Given the description of an element on the screen output the (x, y) to click on. 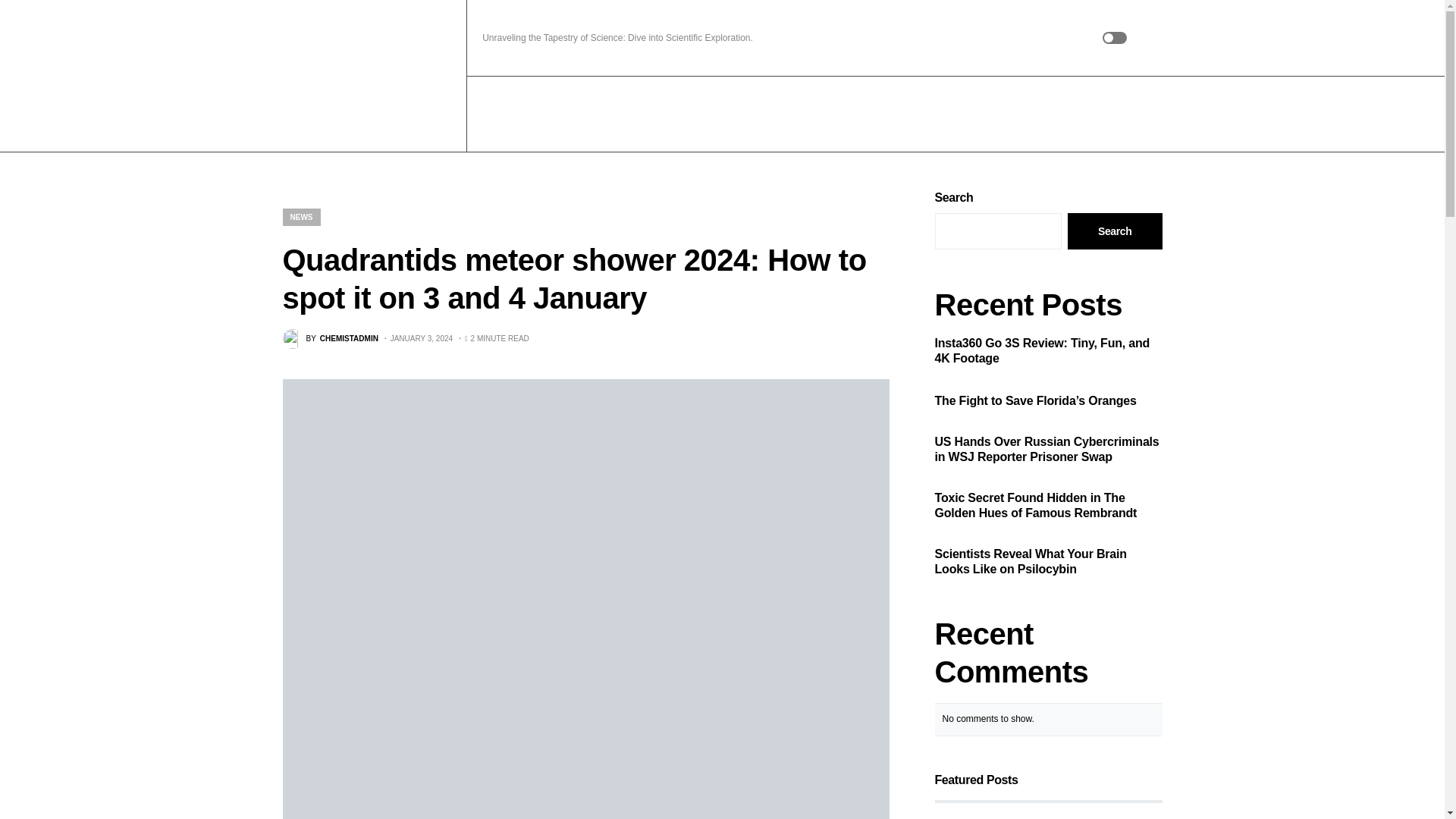
View all posts by chemistadmin (329, 338)
Carbon Chemist (376, 75)
